Given the description of an element on the screen output the (x, y) to click on. 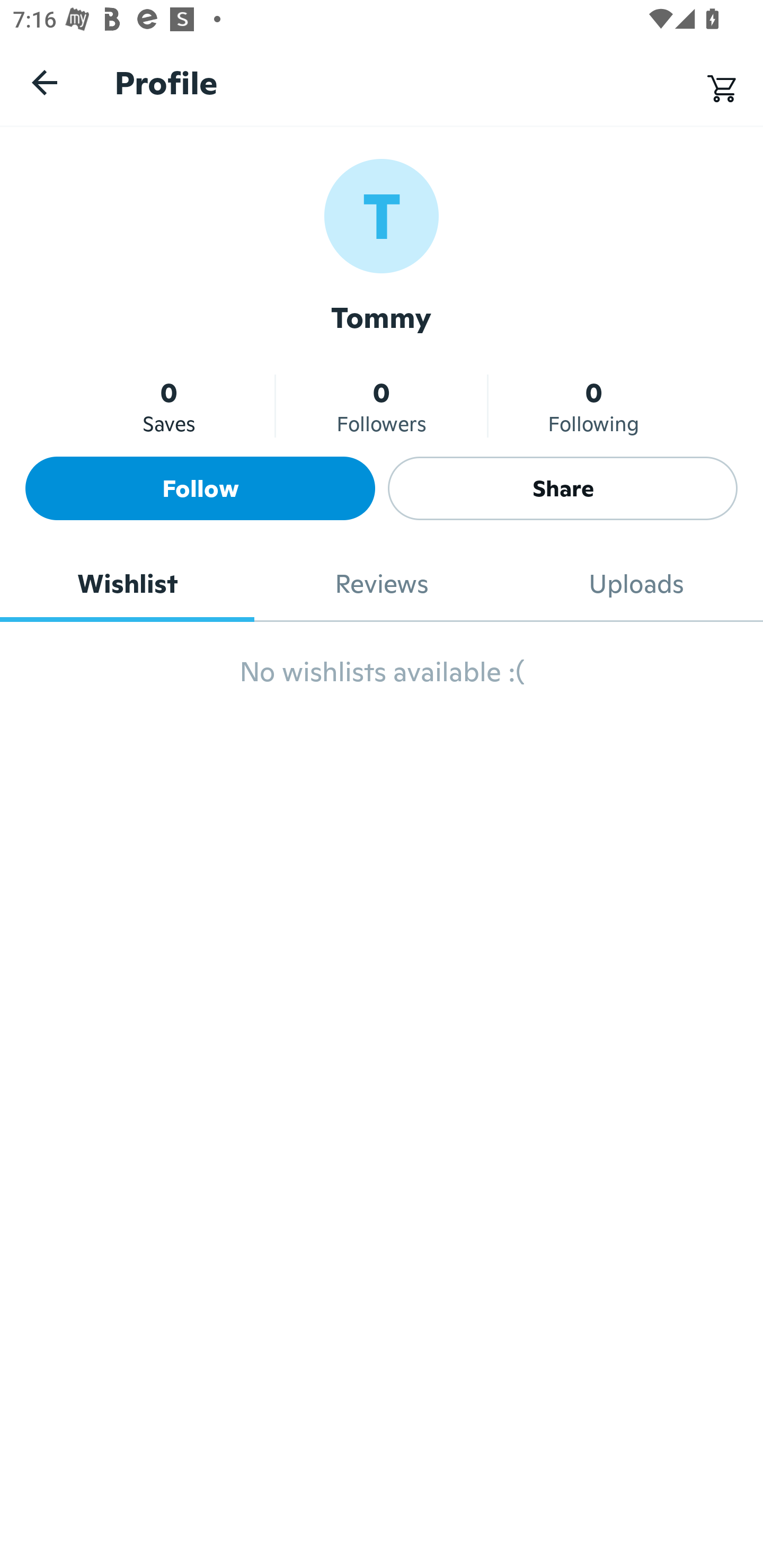
Navigate up (44, 82)
T (381, 215)
0 Followers (381, 405)
0 Following (593, 405)
Follow (200, 488)
Share (562, 488)
Wishlist (127, 583)
Reviews (381, 583)
Uploads (635, 583)
No wishlists available :( (381, 679)
